Given the description of an element on the screen output the (x, y) to click on. 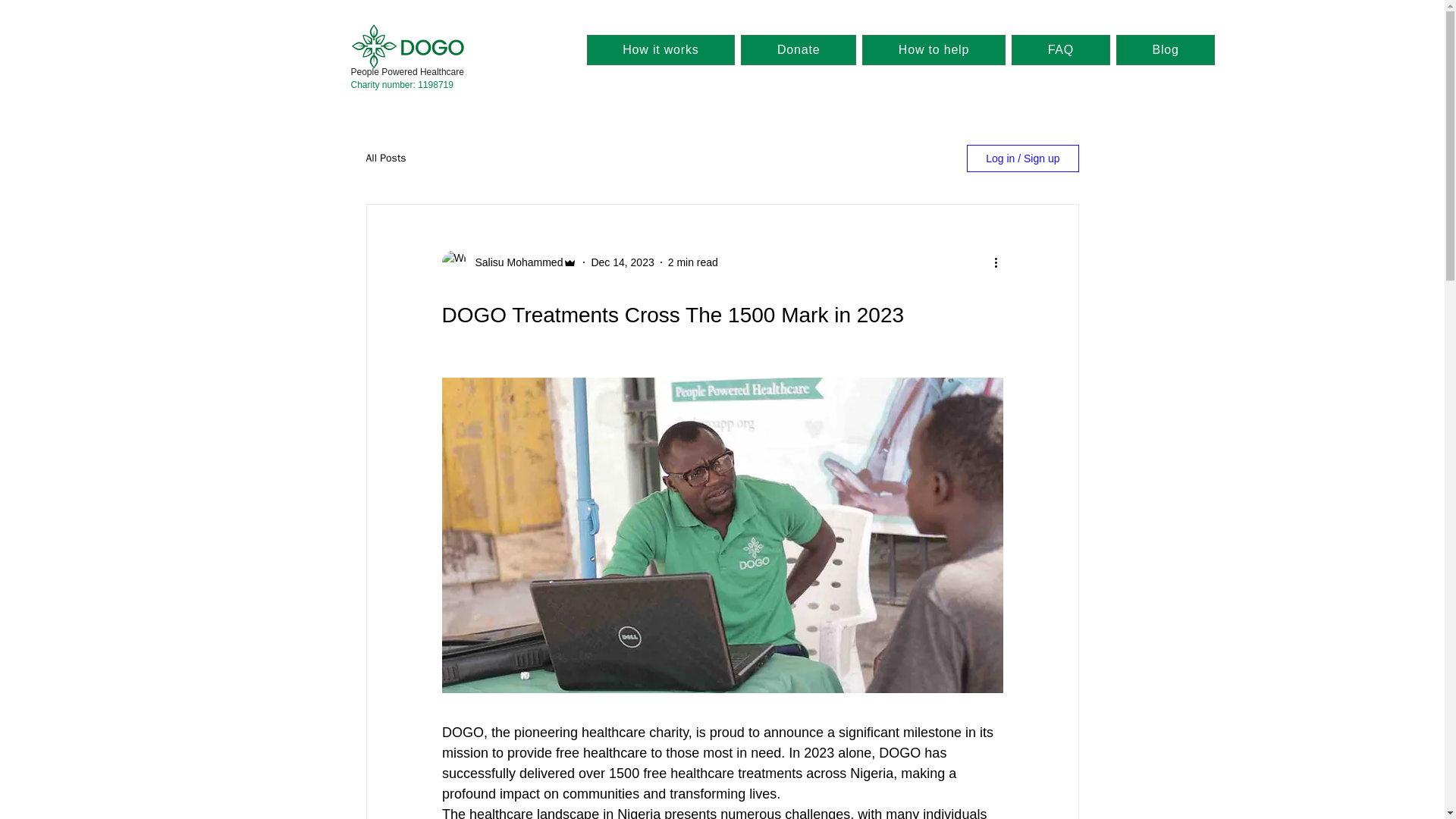
How it works (660, 50)
Donate (798, 50)
Charity number: 1198719 (401, 84)
Salisu Mohammed (513, 262)
Blog (1165, 50)
2 min read (692, 262)
Dec 14, 2023 (622, 262)
FAQ (1060, 50)
All Posts (385, 158)
How to help (933, 50)
